Given the description of an element on the screen output the (x, y) to click on. 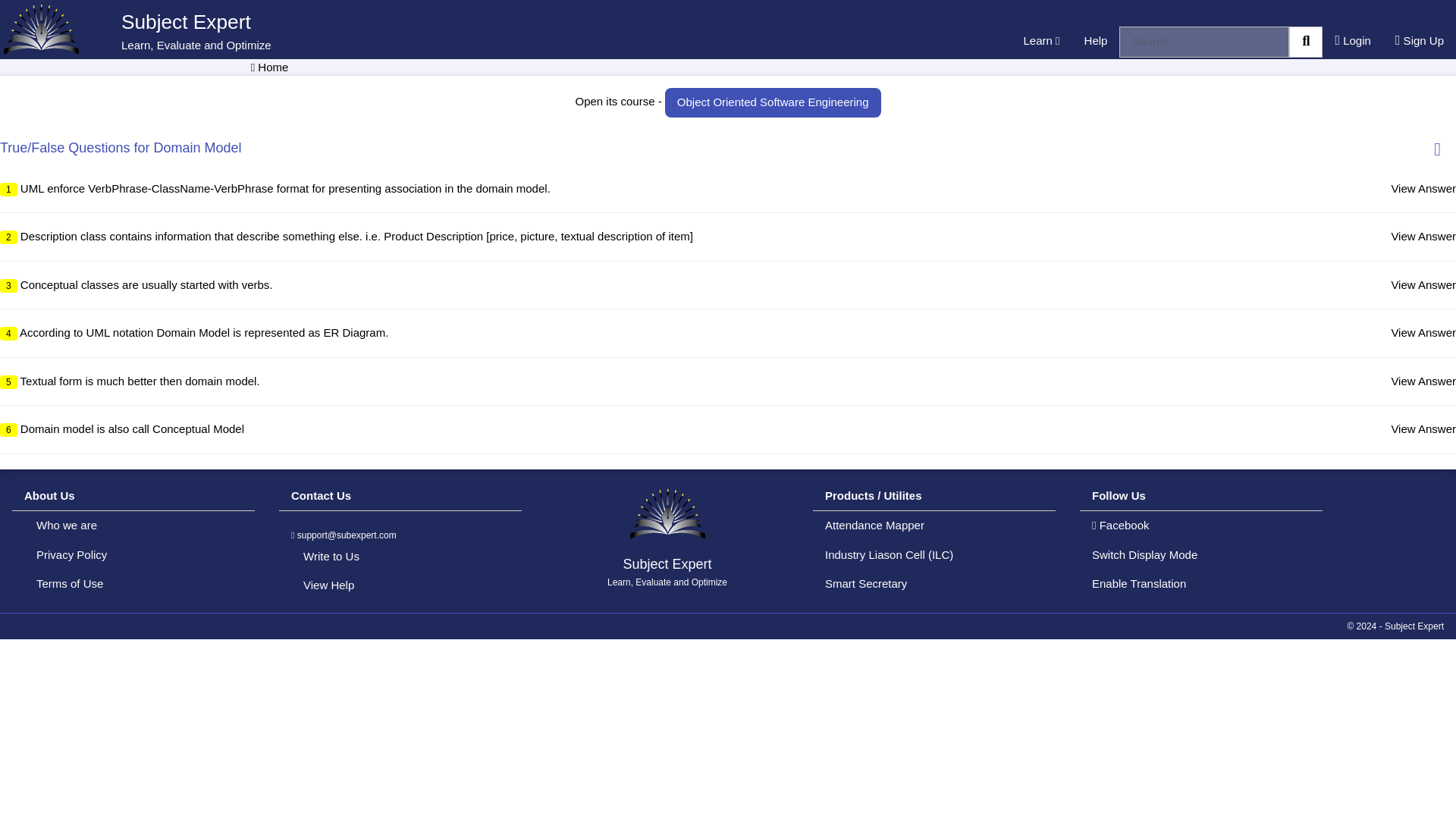
Search (1305, 41)
Help (1095, 41)
Help (1095, 41)
Learn (1041, 41)
Learn from tutorials, Courses and learning path (1041, 41)
